Given the description of an element on the screen output the (x, y) to click on. 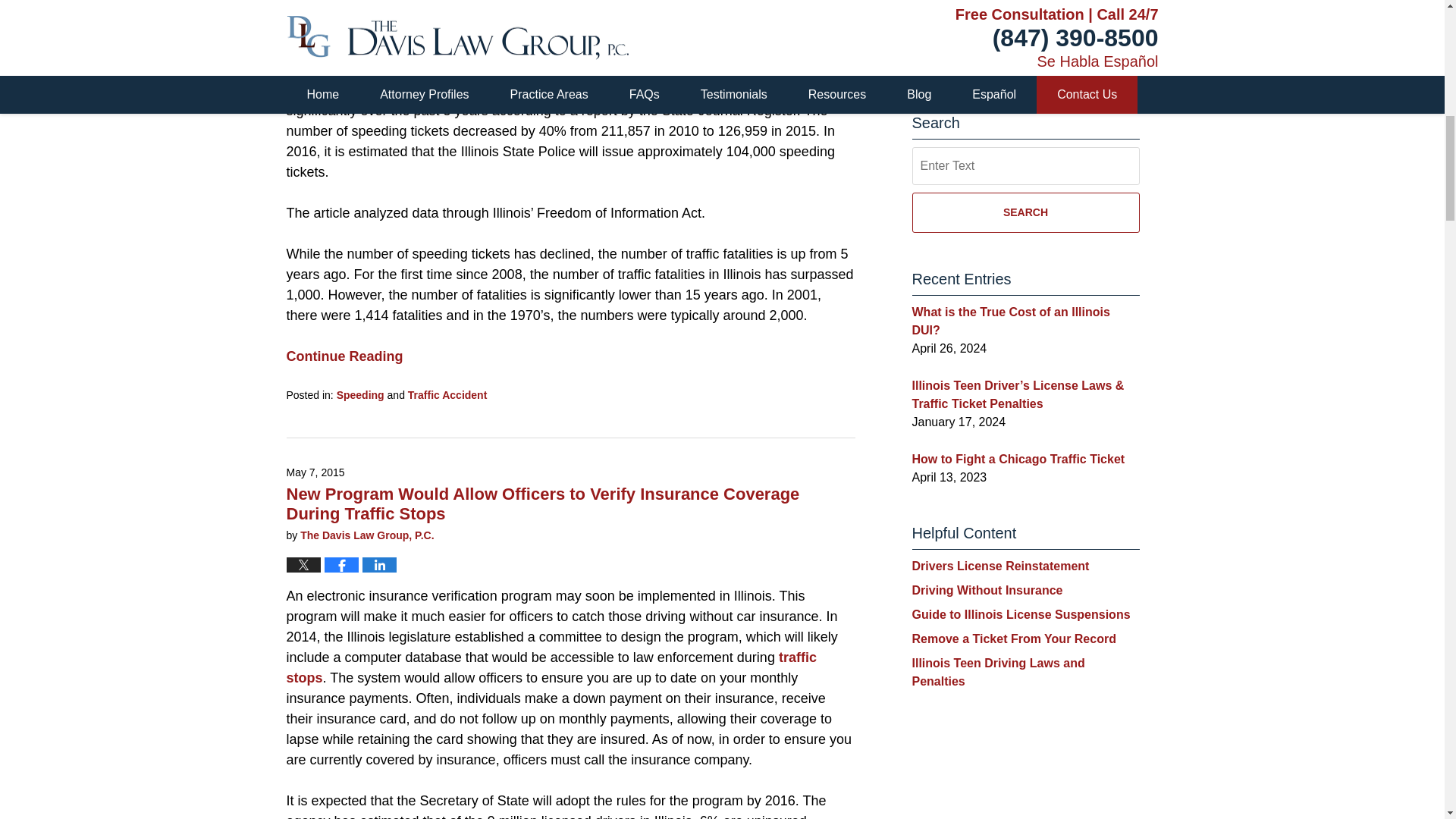
View all posts in Speeding (360, 395)
View all posts in Traffic Accident (447, 395)
